Given the description of an element on the screen output the (x, y) to click on. 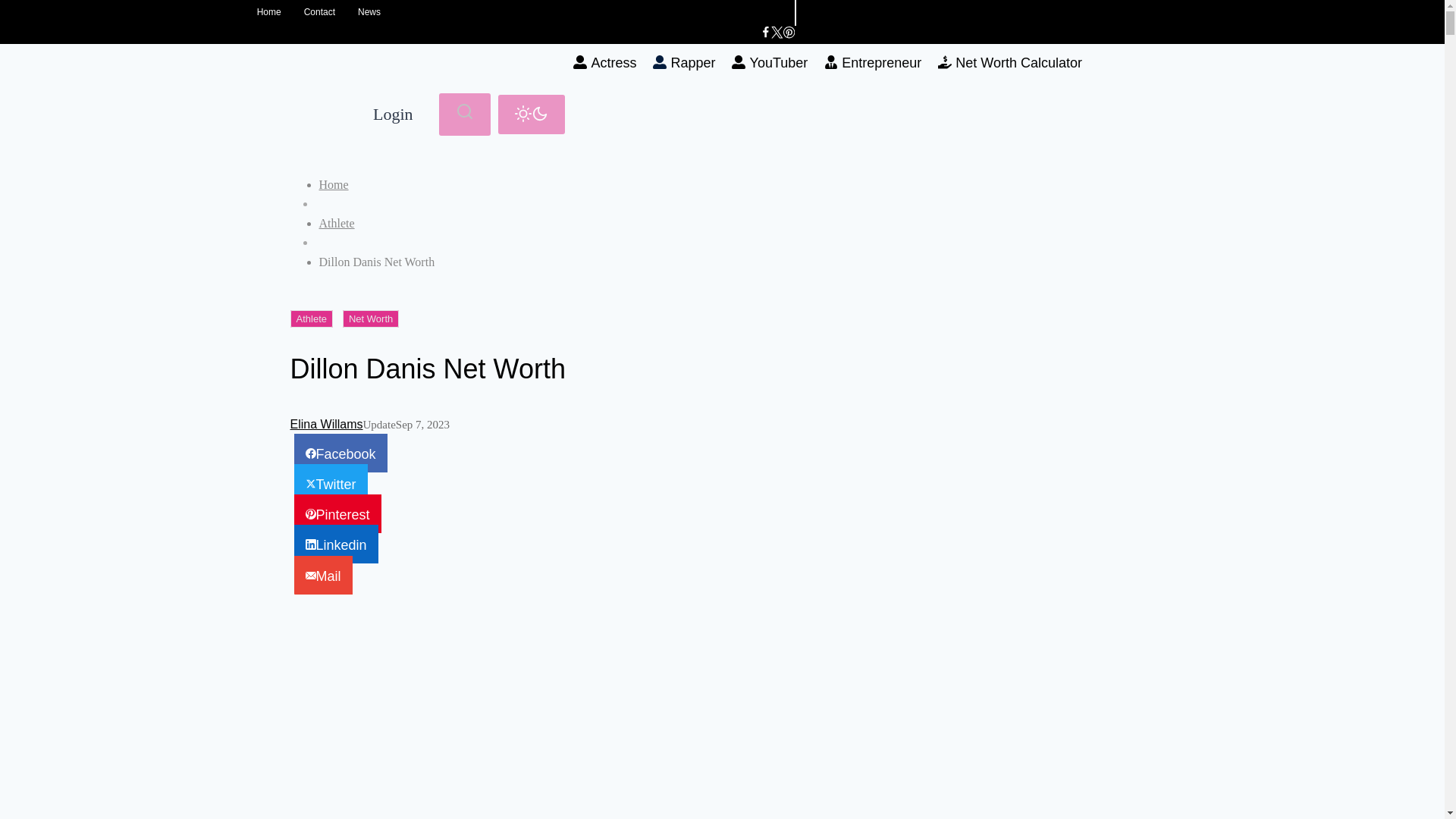
Login (391, 114)
Net Worth (370, 318)
Elina Willams (325, 423)
Linkedin (336, 543)
Rapper (684, 62)
Athlete (310, 318)
Entrepreneur (872, 62)
Twitter (331, 483)
News (368, 12)
YouTuber (769, 62)
